Given the description of an element on the screen output the (x, y) to click on. 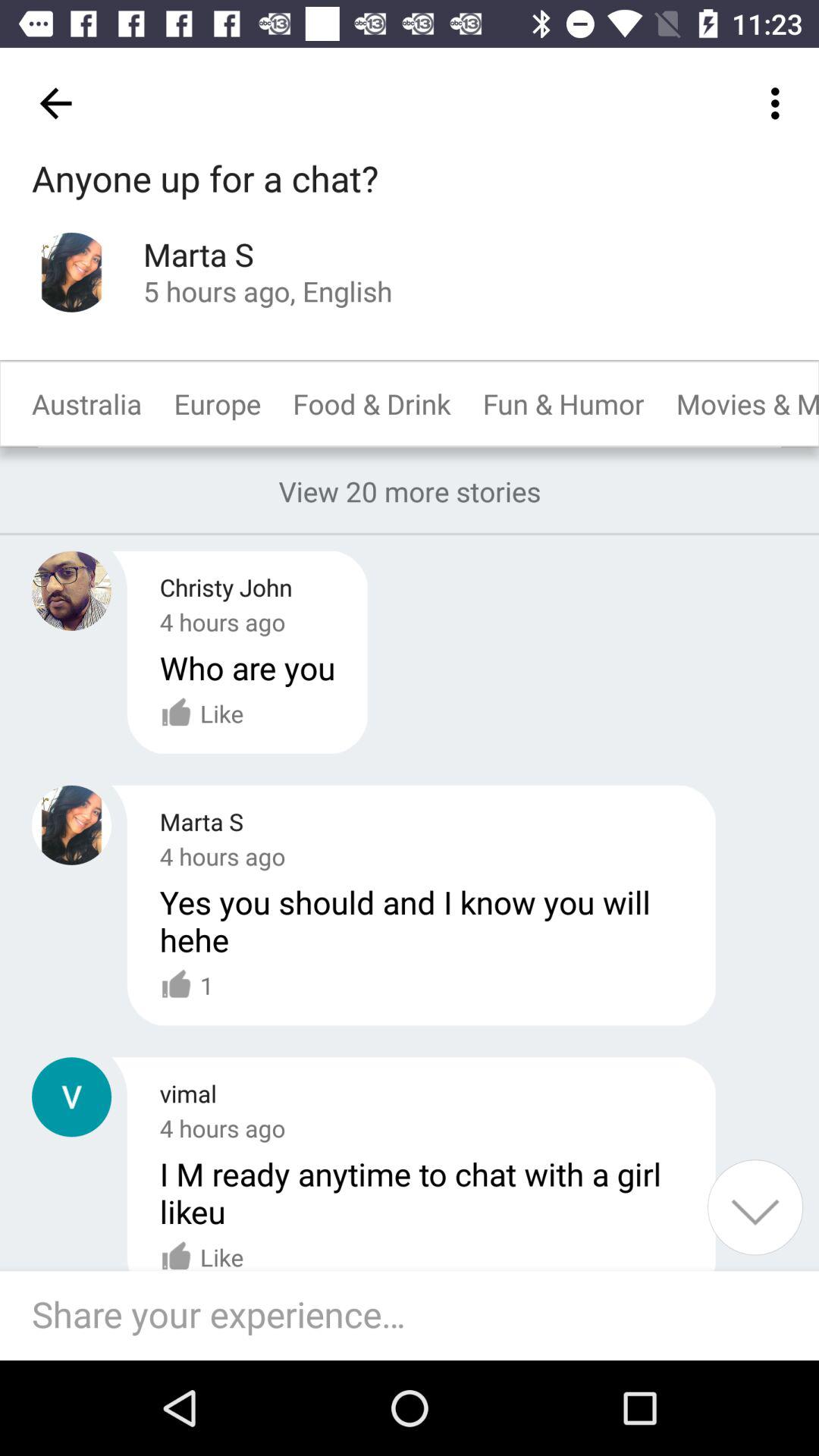
open an user profile (71, 590)
